Given the description of an element on the screen output the (x, y) to click on. 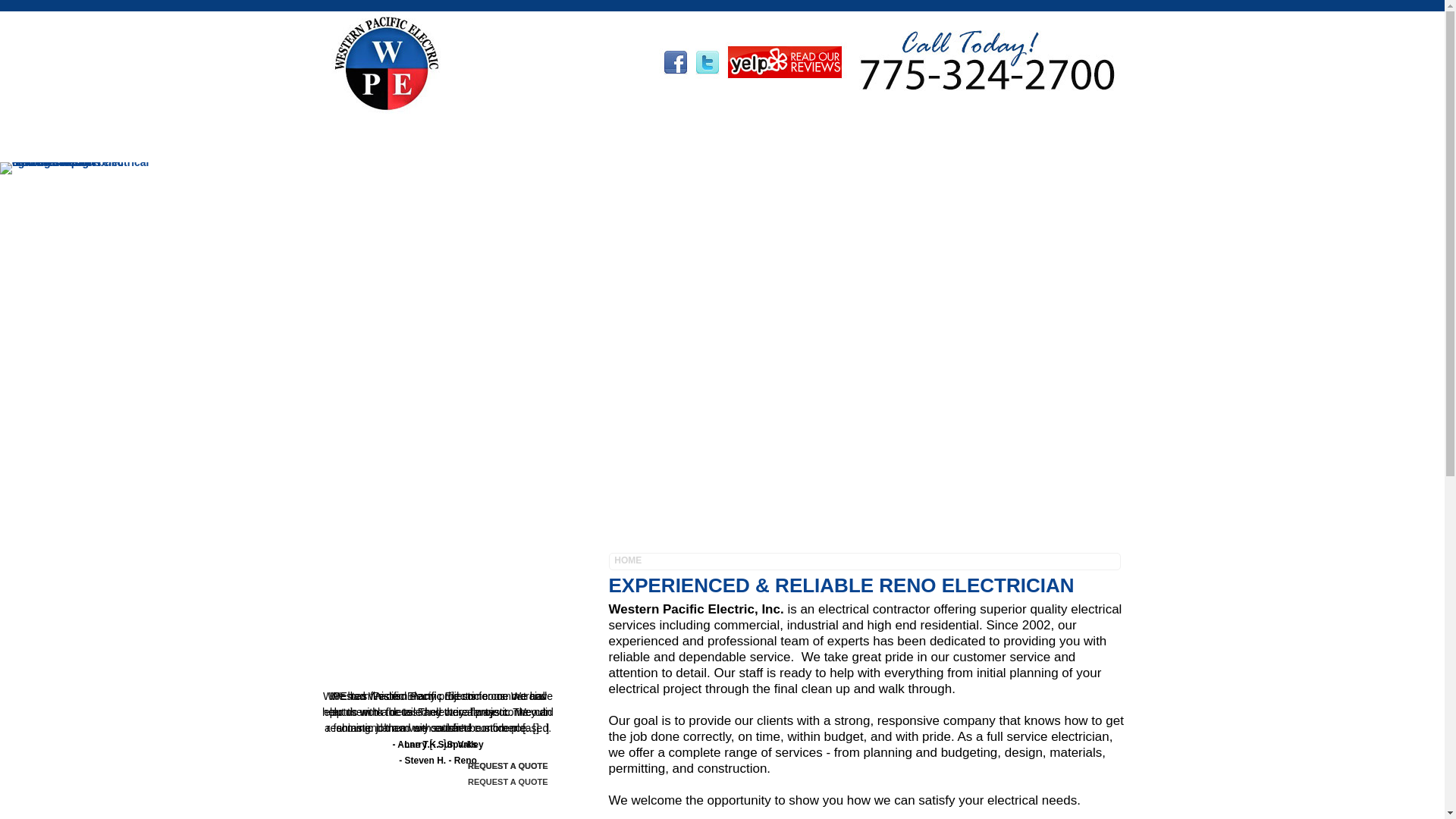
OUR SERVICES (557, 137)
ABOUT US (450, 137)
HOME (366, 137)
